Given the description of an element on the screen output the (x, y) to click on. 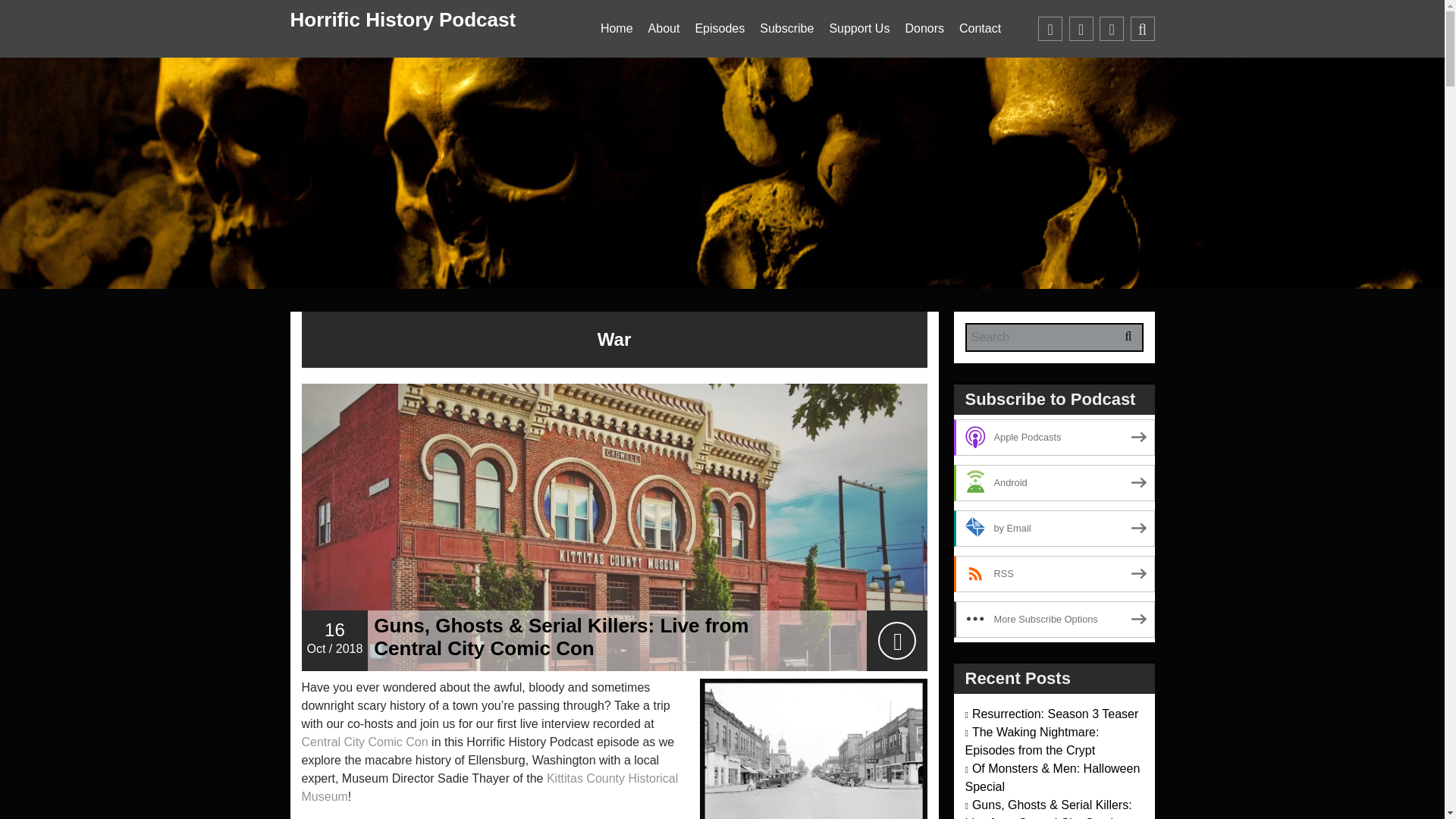
Contact (980, 28)
Support Us (858, 28)
Kittitas County Historical Museum (489, 787)
Subscribe (786, 28)
Horrific History Podcast (402, 19)
Donors (924, 28)
Episodes (719, 28)
Central City Comic Con (364, 741)
